Given the description of an element on the screen output the (x, y) to click on. 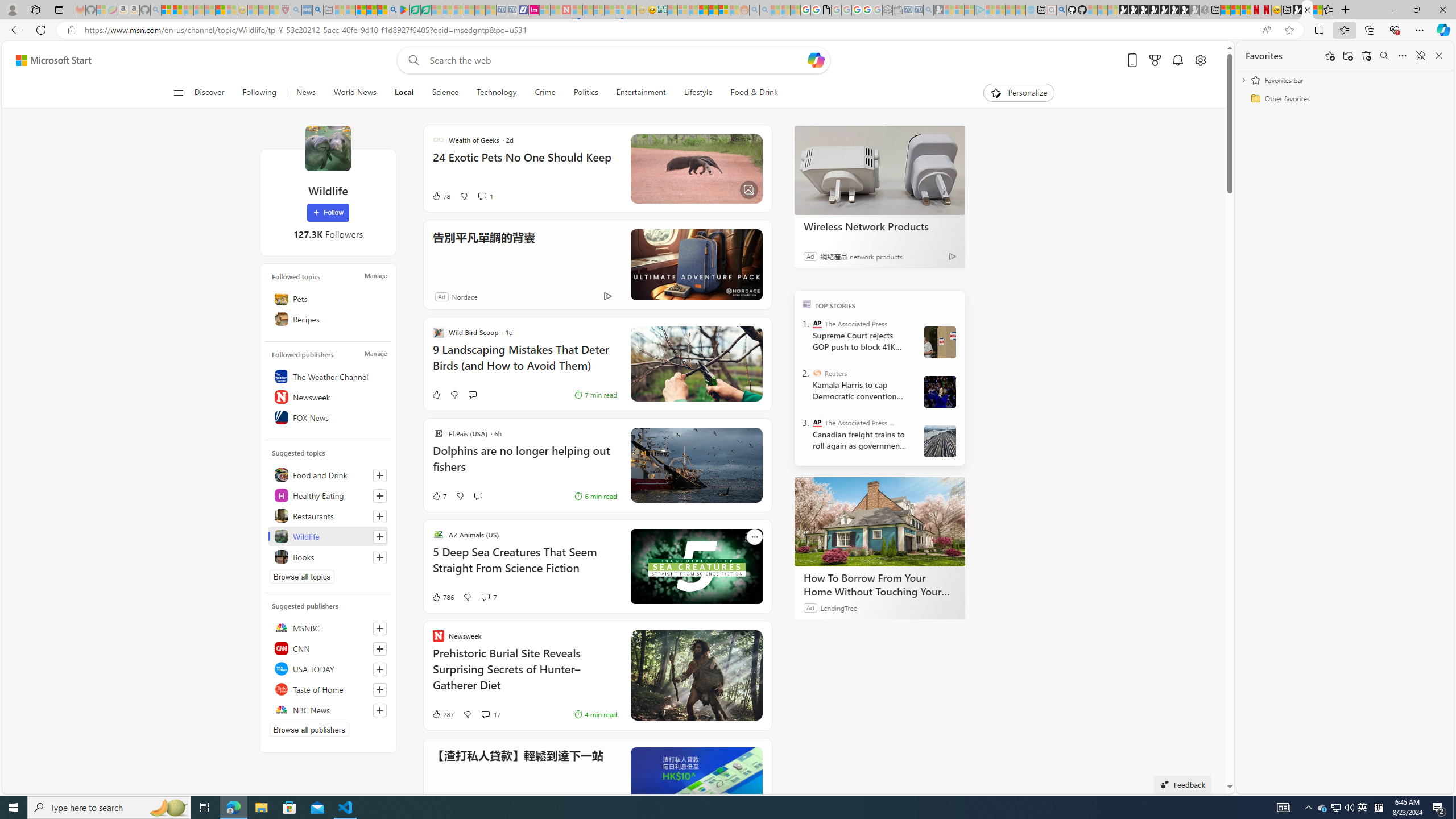
Follow this source (379, 710)
The Associated Press - Business News (816, 422)
